Given the description of an element on the screen output the (x, y) to click on. 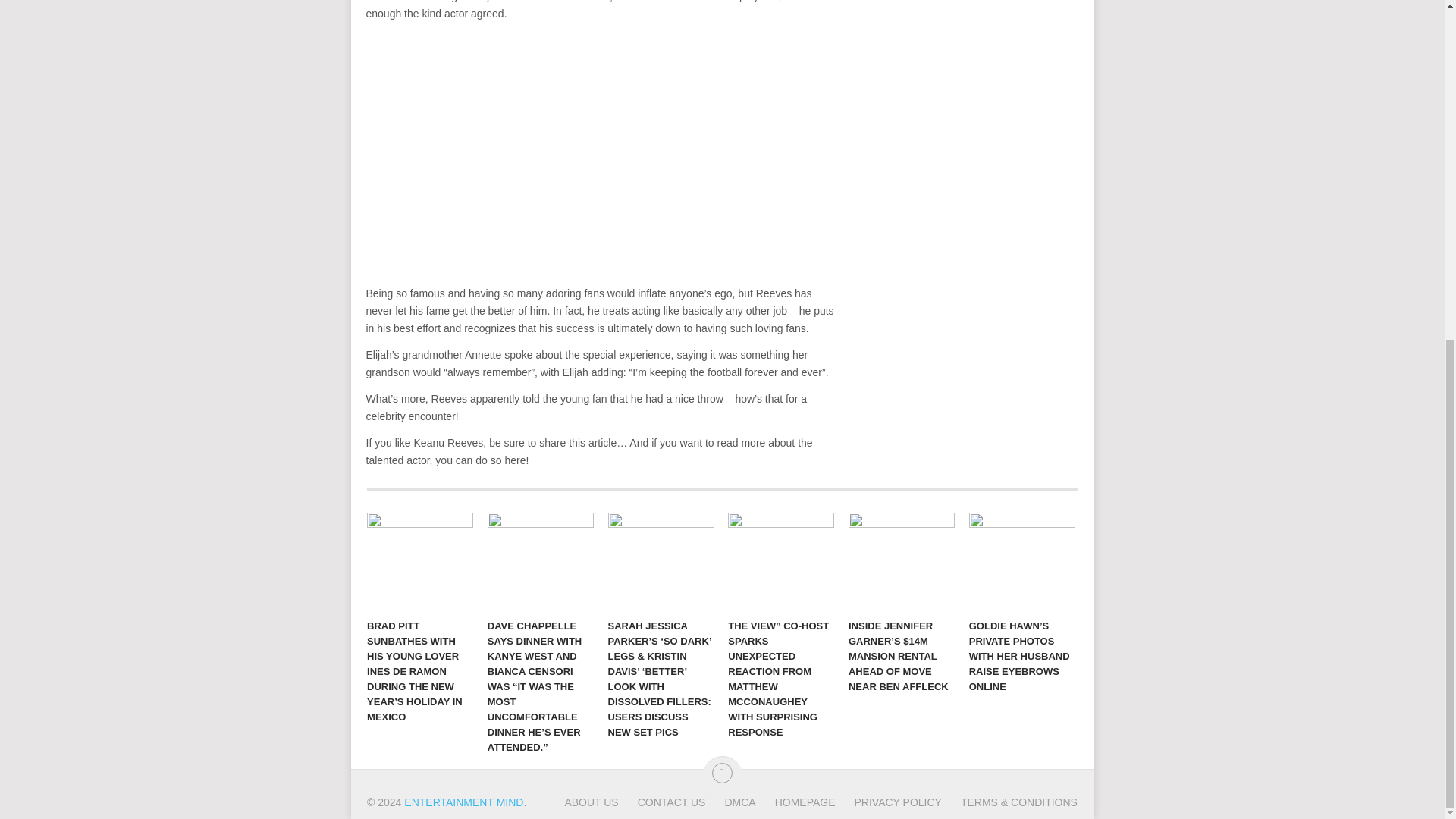
ENTERTAINMENT MIND (463, 802)
DMCA (729, 802)
PRIVACY POLICY (888, 802)
ABOUT US (590, 802)
CONTACT US (662, 802)
YouTube video player (577, 151)
HOMEPAGE (795, 802)
